Given the description of an element on the screen output the (x, y) to click on. 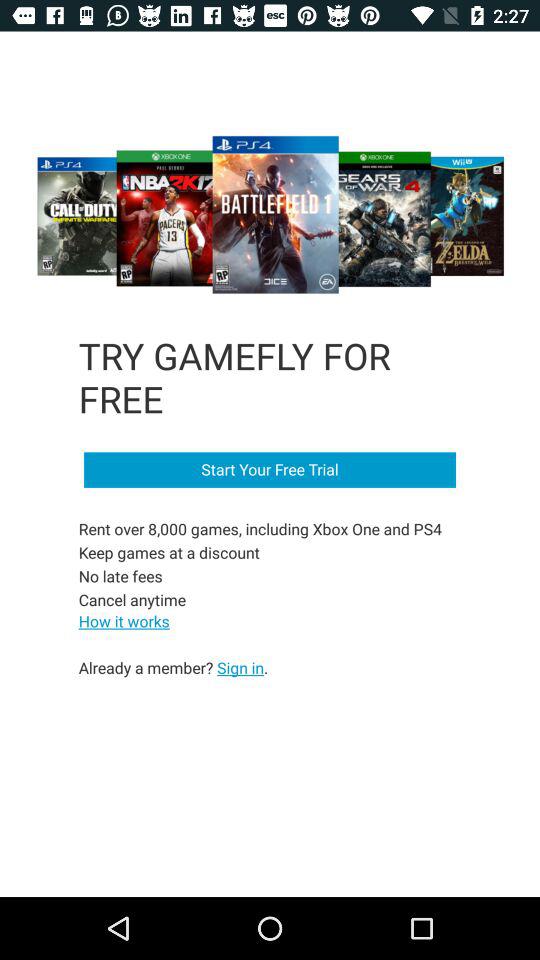
turn off the icon below the how it works item (173, 667)
